Given the description of an element on the screen output the (x, y) to click on. 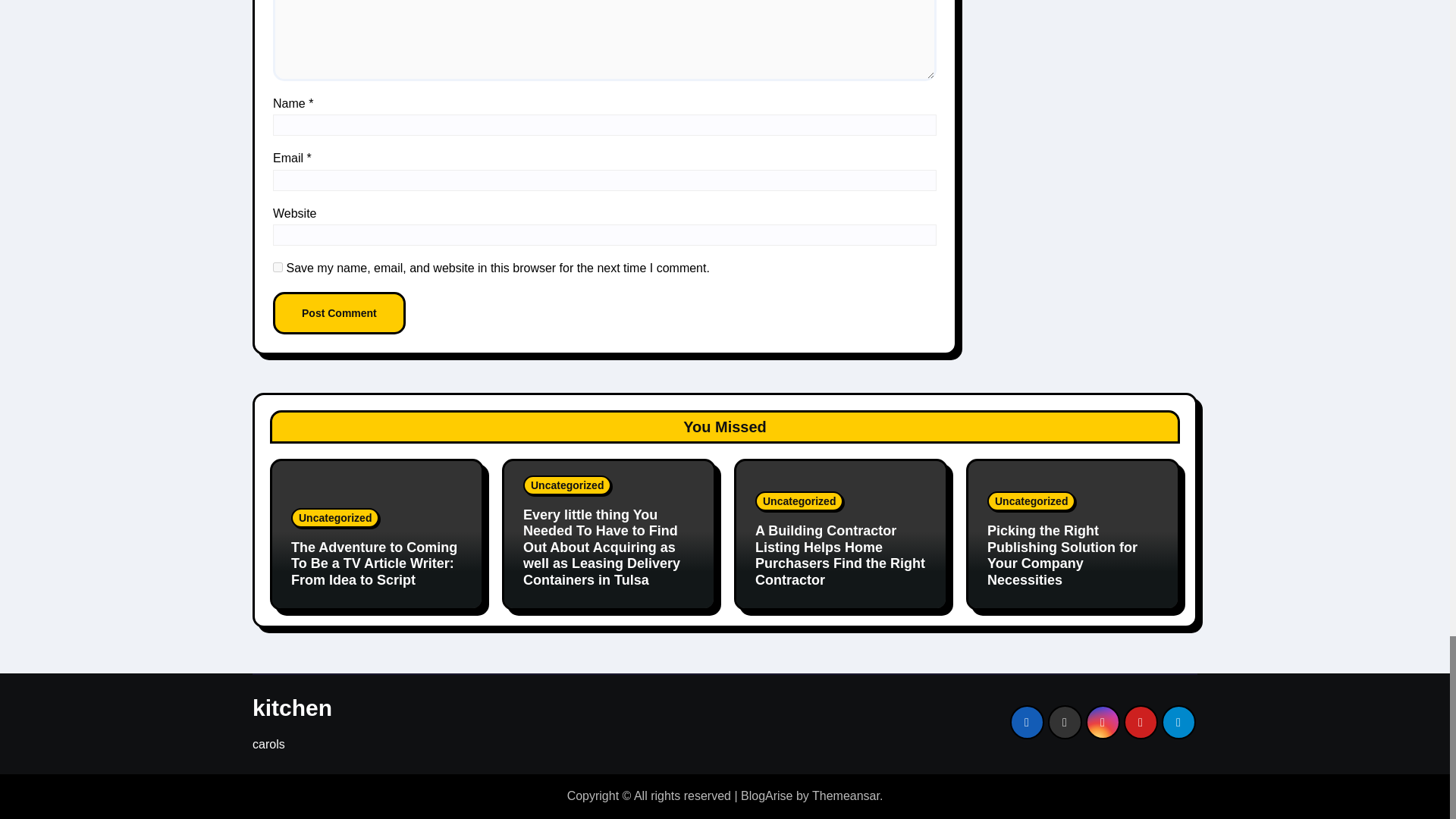
Post Comment (339, 312)
yes (277, 266)
